Given the description of an element on the screen output the (x, y) to click on. 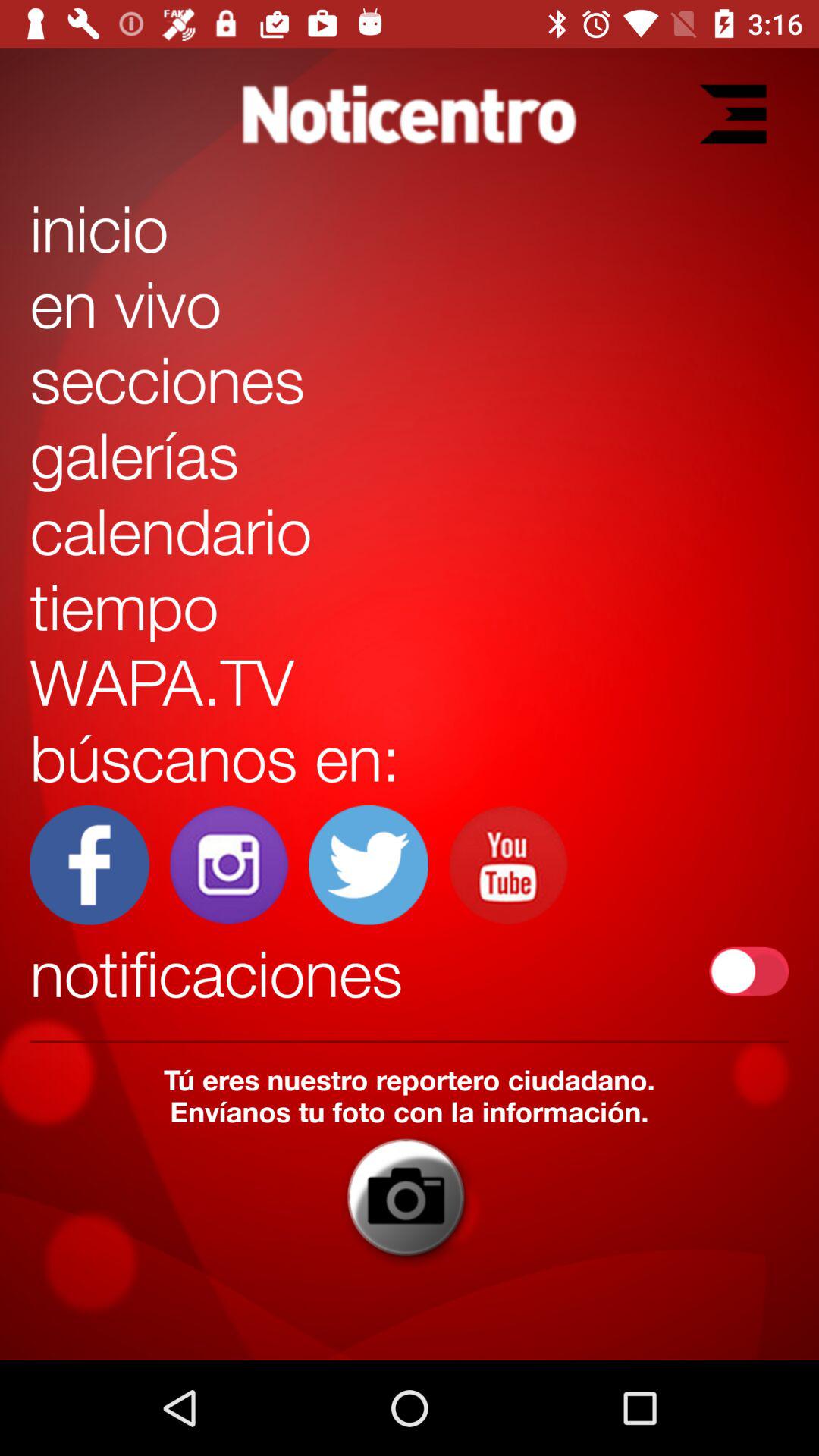
to add extension bar (732, 113)
